Given the description of an element on the screen output the (x, y) to click on. 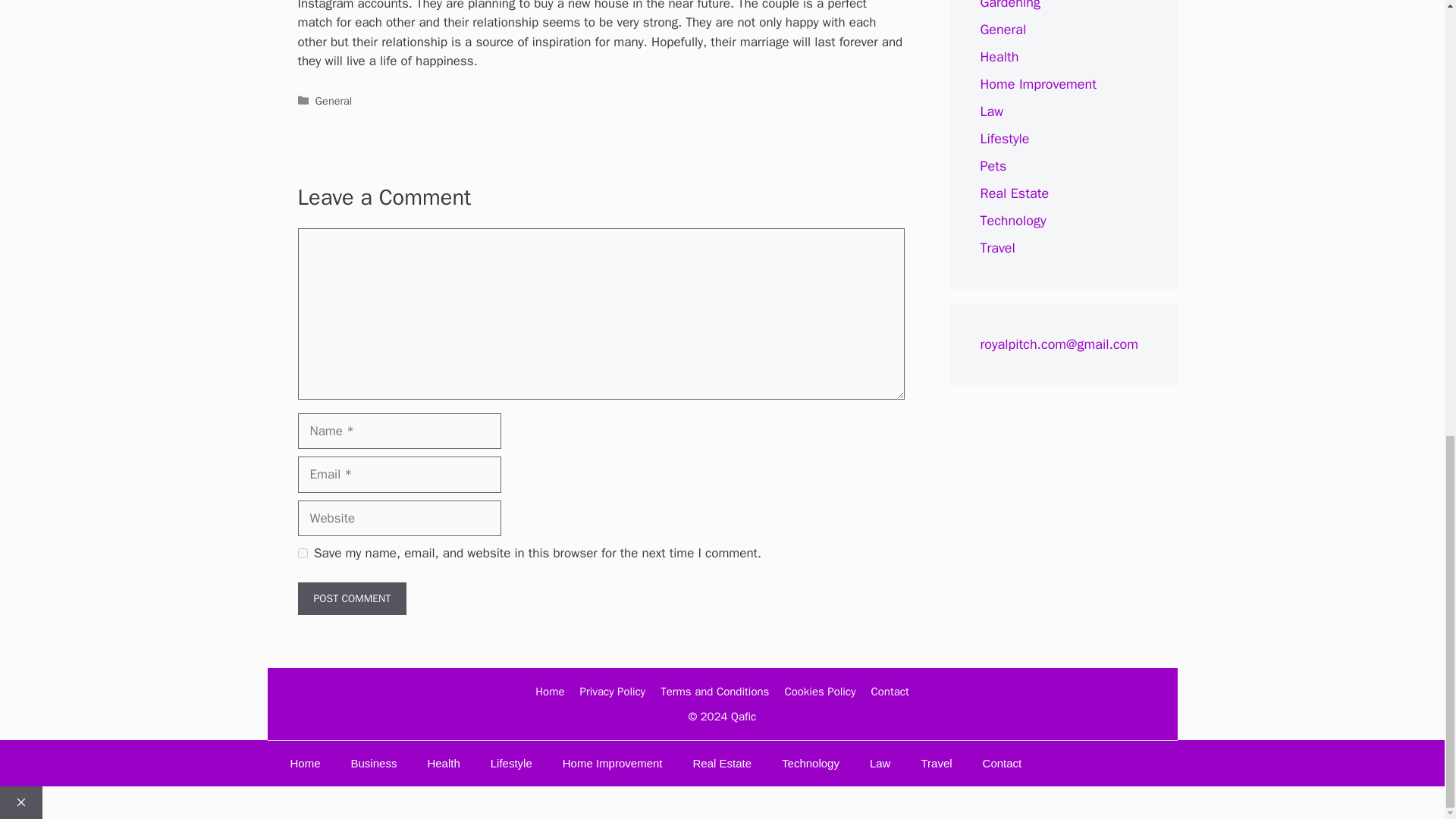
Law (991, 111)
General (333, 100)
Pets (992, 166)
Scroll back to top (1406, 602)
Home Improvement (1037, 84)
Post Comment (351, 598)
Gardening (1009, 5)
Post Comment (351, 598)
General (1002, 29)
Health (998, 56)
